Given the description of an element on the screen output the (x, y) to click on. 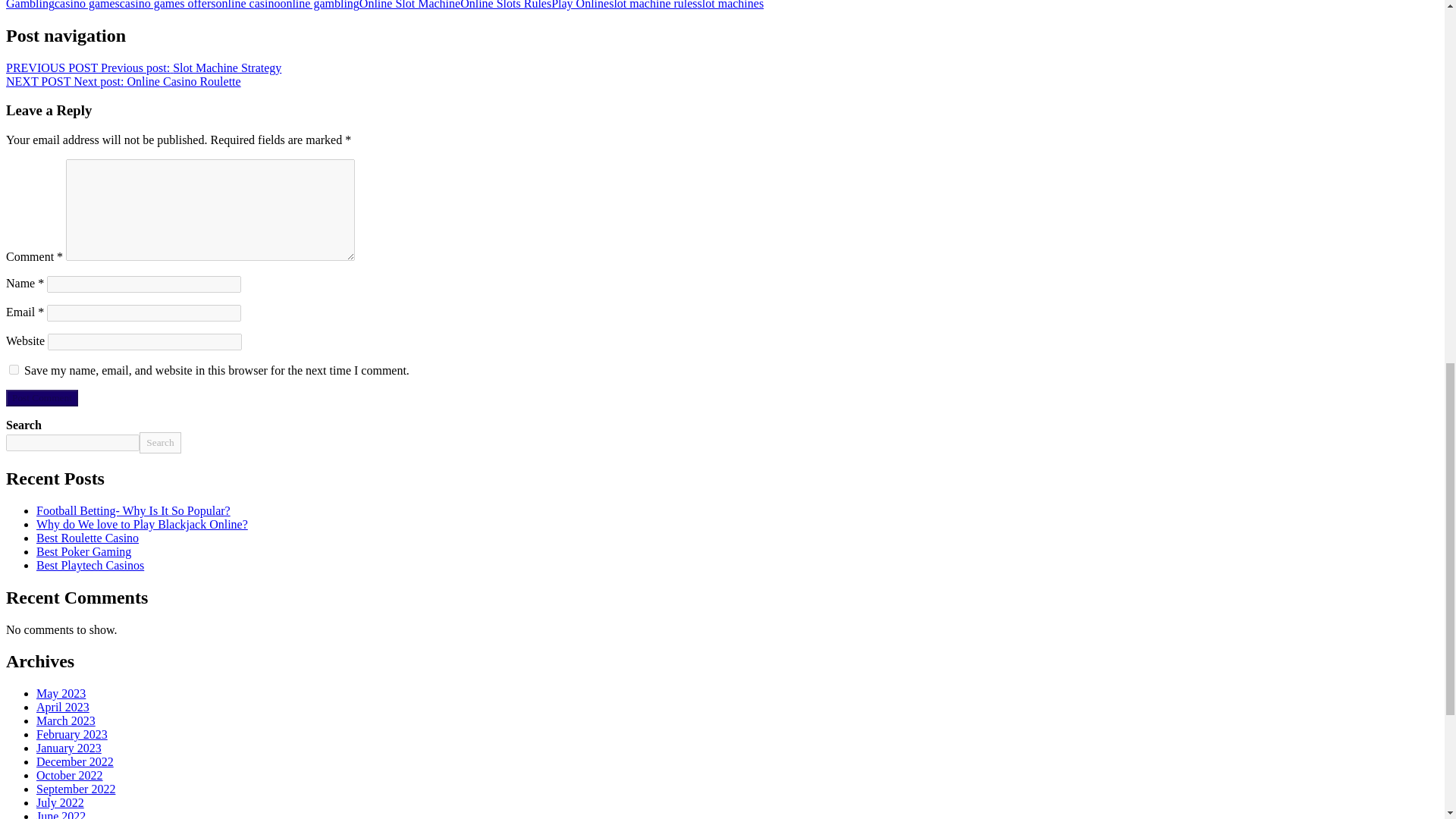
NEXT POST Next post: Online Casino Roulette (123, 80)
Play Online (579, 4)
Post Comment (41, 397)
Online Slot Machine (409, 4)
Best Poker Gaming (83, 551)
slot machines (730, 4)
Football Betting- Why Is It So Popular? (133, 510)
casino games (87, 4)
slot machine rules (652, 4)
yes (13, 369)
Gambling (30, 4)
Post Comment (41, 397)
casino games offers (167, 4)
online casino (248, 4)
Online Slots Rules (505, 4)
